Given the description of an element on the screen output the (x, y) to click on. 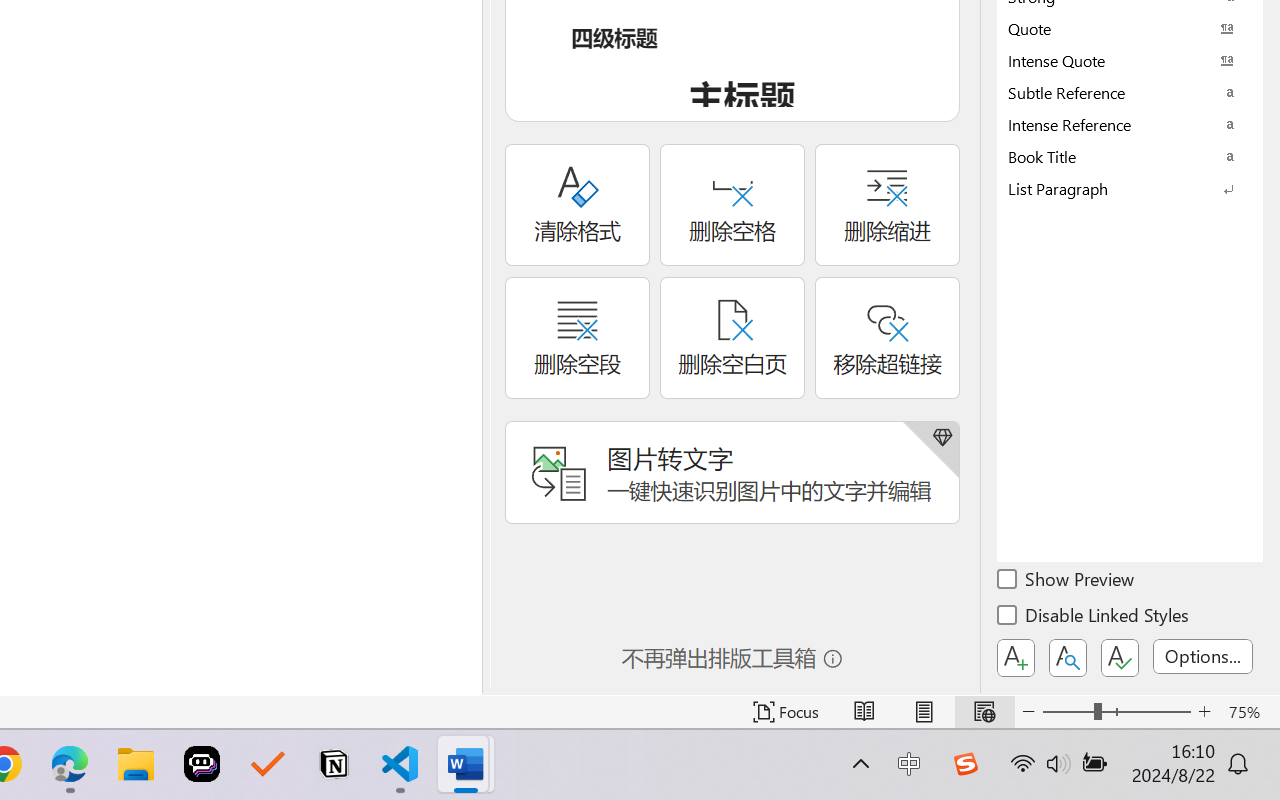
Read Mode (864, 712)
List Paragraph (1130, 188)
Show Preview (1067, 582)
Options... (1203, 656)
Print Layout (924, 712)
Zoom In (1204, 712)
Class: NetUIButton (1119, 657)
Zoom Out (1067, 712)
